Given the description of an element on the screen output the (x, y) to click on. 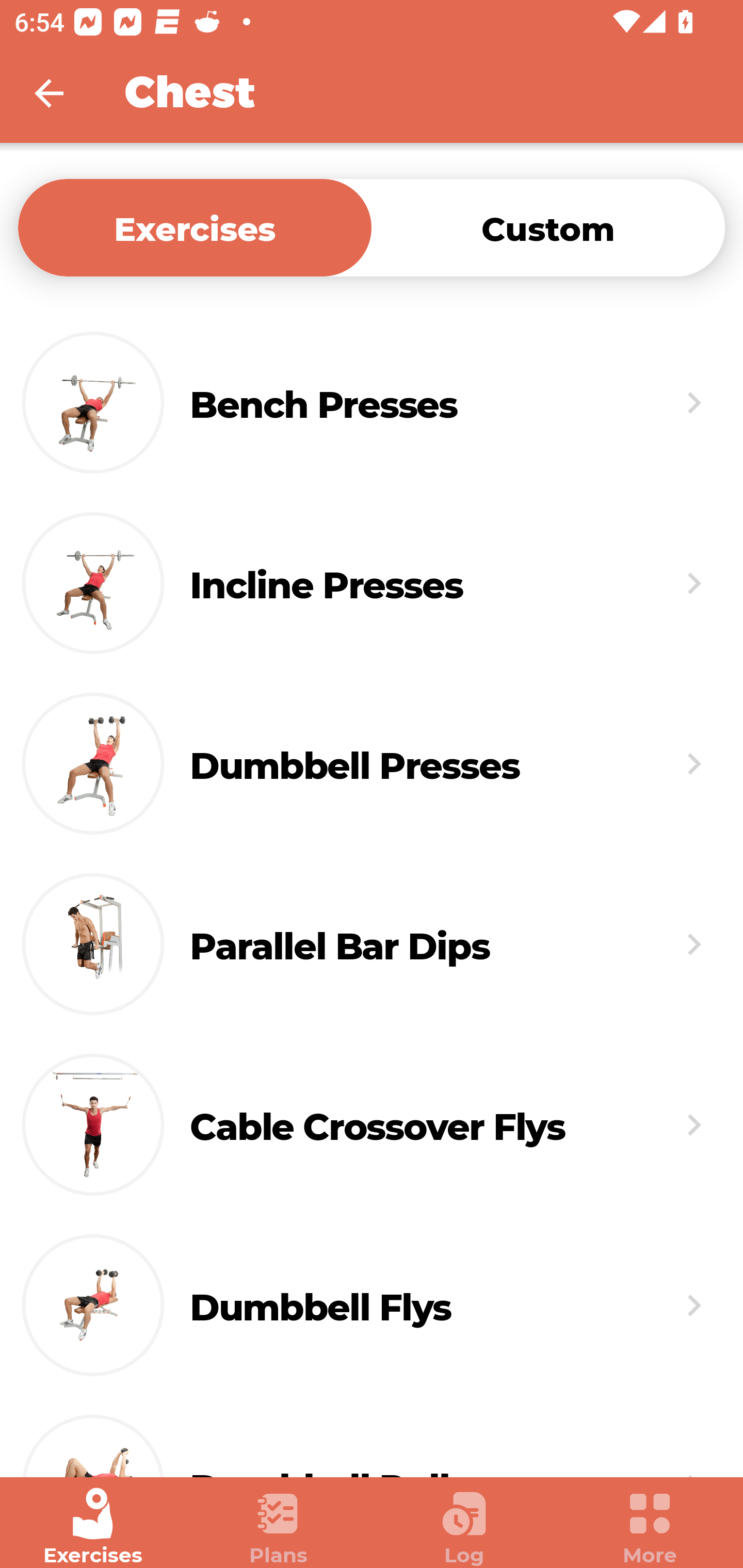
Back (62, 92)
Exercises (194, 226)
Custom (548, 226)
Exercises (92, 1527)
Plans (278, 1527)
Log (464, 1527)
More (650, 1527)
